Given the description of an element on the screen output the (x, y) to click on. 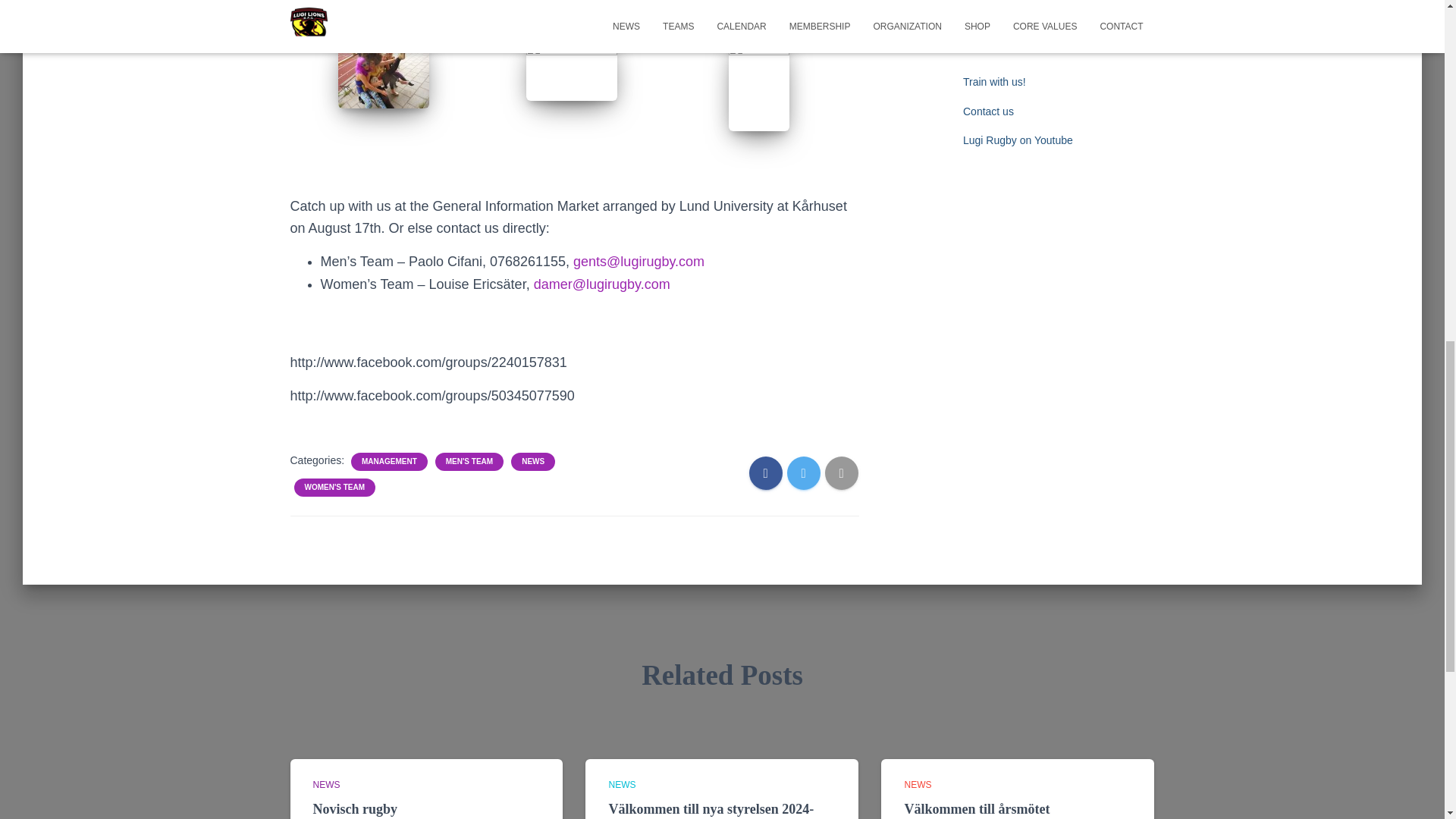
Contact us (987, 111)
MEN'S TEAM (469, 461)
Novisch rugby (355, 808)
NEWS (621, 784)
Lugi Rugby on Youtube (1017, 140)
Train with us! (994, 81)
WOMEN'S TEAM (334, 487)
New in Lund and interested playing rugby? Look no further! (1045, 21)
MANAGEMENT (389, 461)
NEWS (326, 784)
